Given the description of an element on the screen output the (x, y) to click on. 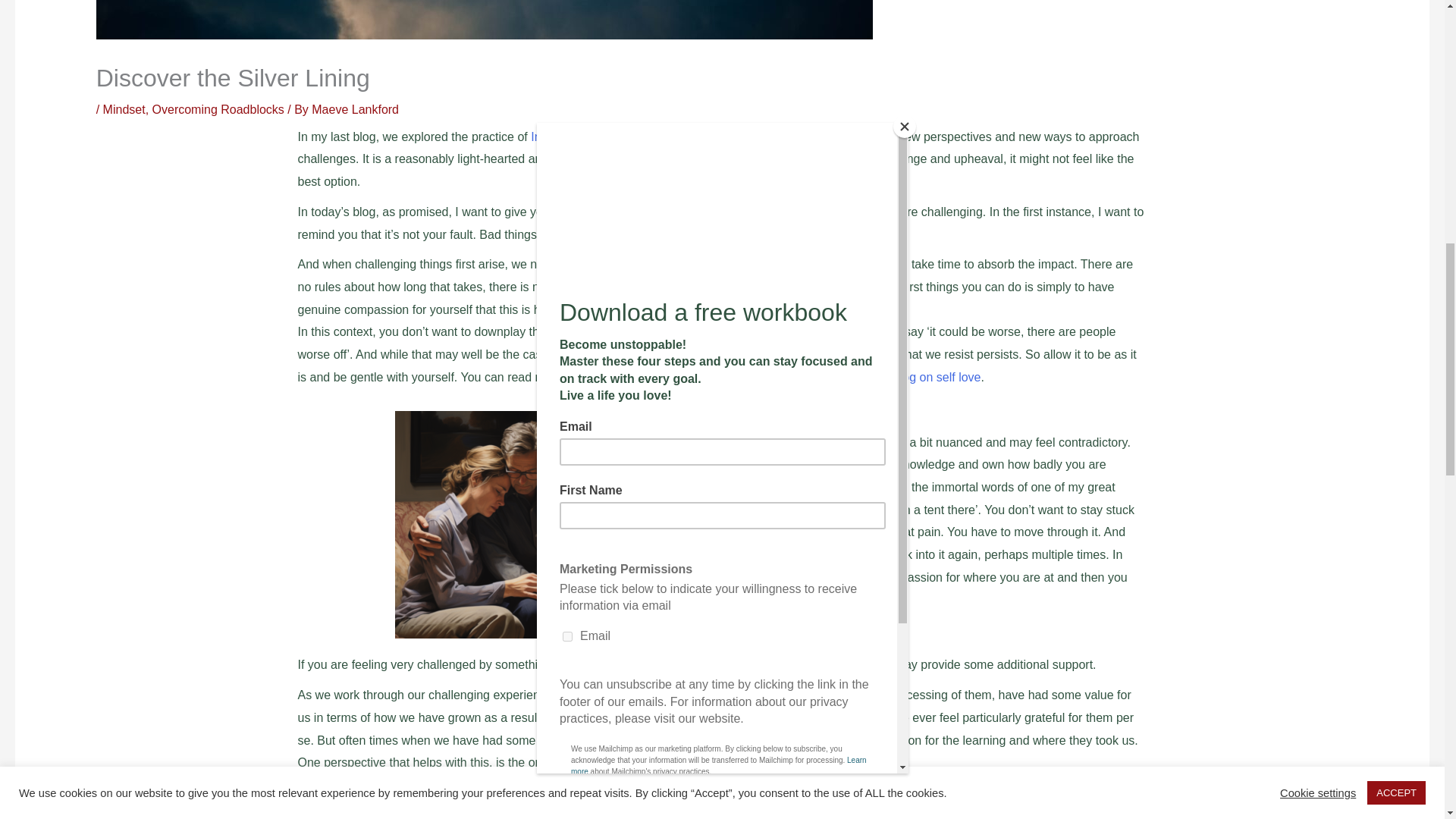
surrender (865, 664)
Mindset (124, 109)
Overcoming Roadblocks (217, 109)
blog on self love (937, 377)
Maeve Lankford (354, 109)
View all posts by Maeve Lankford (354, 109)
Inversion (555, 136)
